Given the description of an element on the screen output the (x, y) to click on. 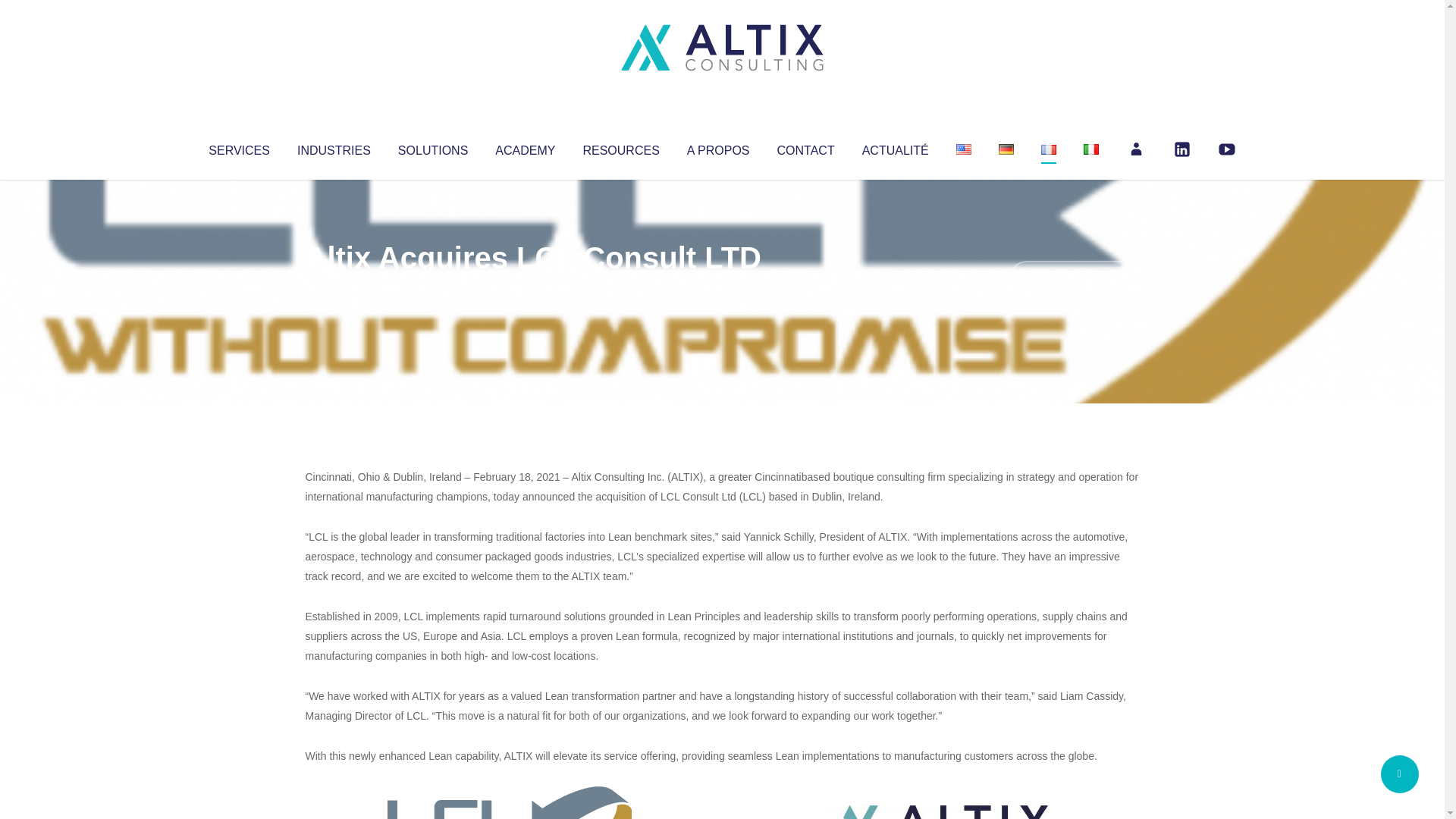
ACADEMY (524, 146)
SOLUTIONS (432, 146)
Articles par Altix (333, 287)
No Comments (1073, 278)
Altix (333, 287)
RESOURCES (620, 146)
INDUSTRIES (334, 146)
Uncategorized (530, 287)
A PROPOS (718, 146)
SERVICES (238, 146)
